Given the description of an element on the screen output the (x, y) to click on. 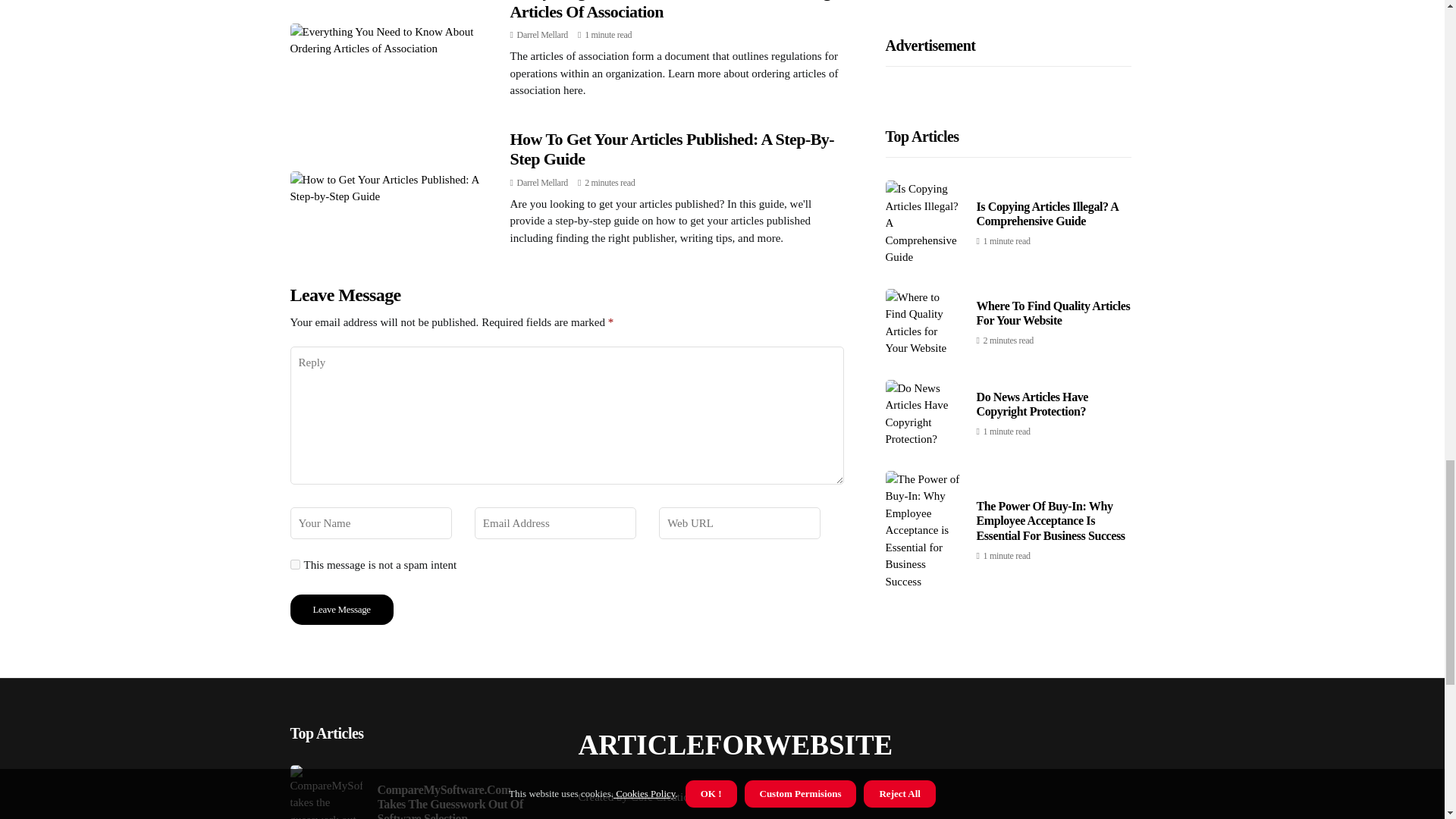
yes (294, 564)
Posts by Darrel Mellard (541, 34)
Posts by Darrel Mellard (541, 182)
Darrel Mellard (541, 34)
How To Get Your Articles Published: A Step-By-Step Guide (671, 148)
Leave Message (341, 609)
Darrel Mellard (541, 182)
Leave Message (341, 609)
